Given the description of an element on the screen output the (x, y) to click on. 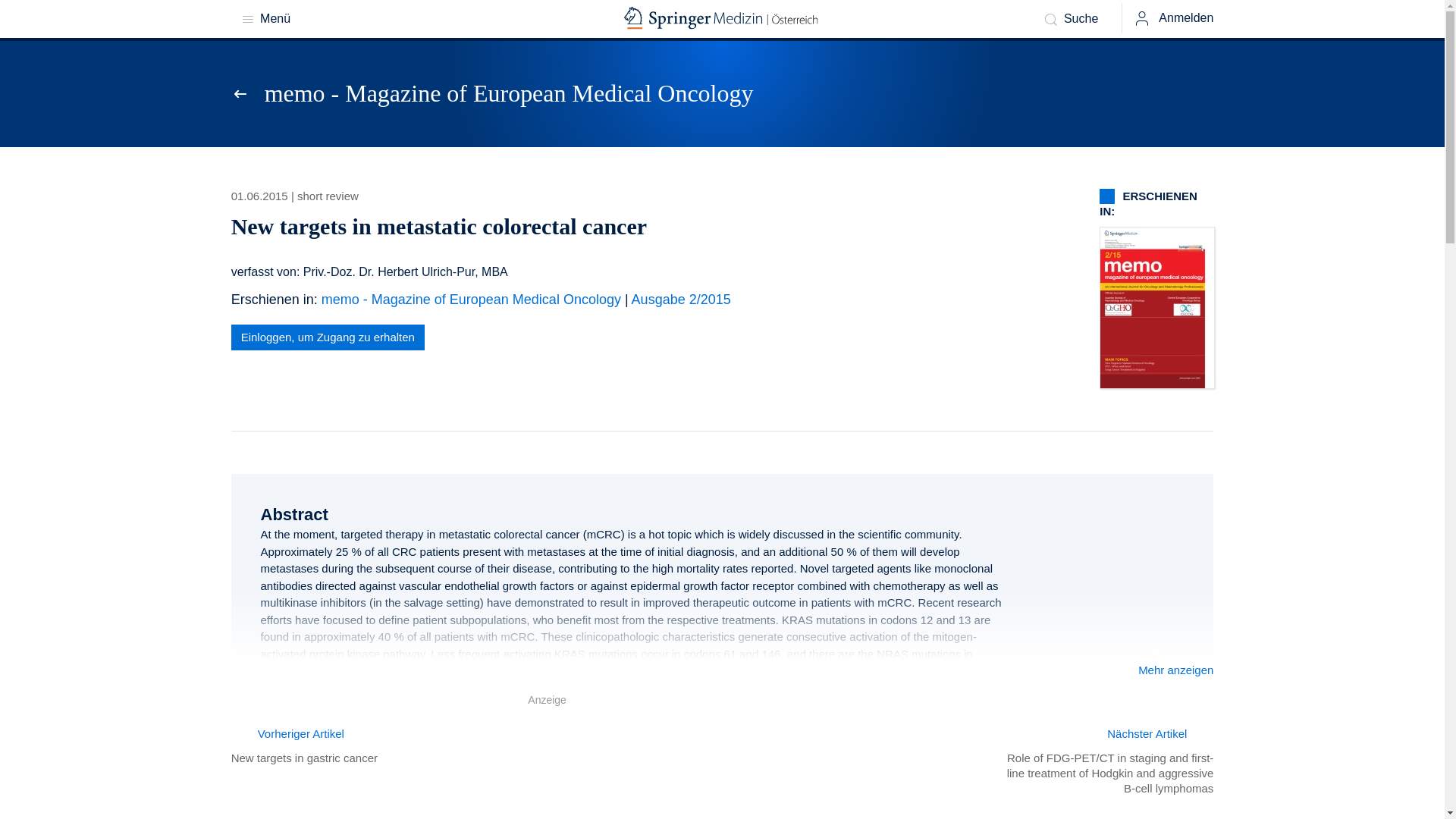
Zur Journal-Homepage (509, 93)
Anmelden (1172, 18)
Zur Journal-Homepage (244, 94)
